Given the description of an element on the screen output the (x, y) to click on. 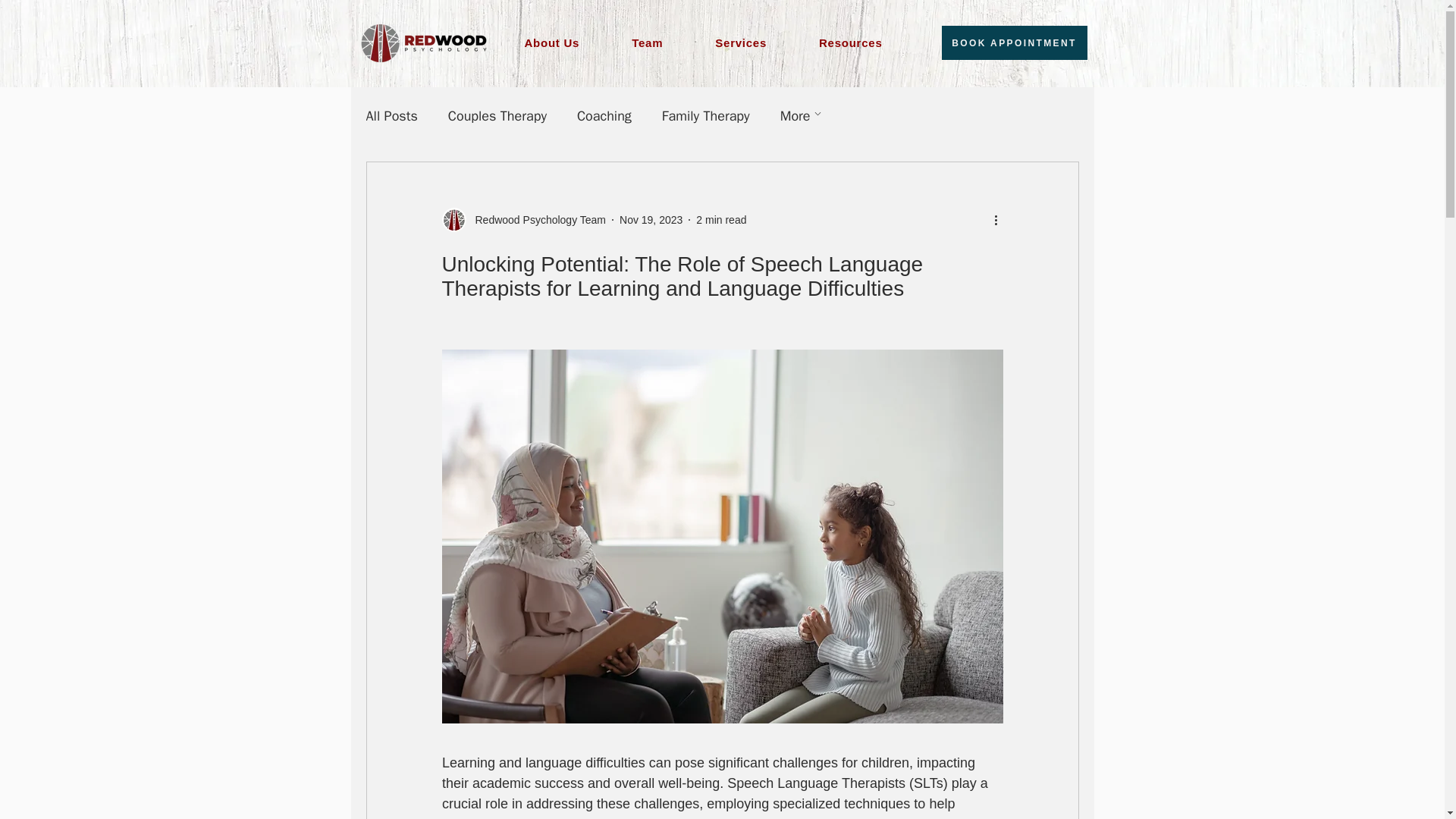
BOOK APPOINTMENT (718, 42)
Nov 19, 2023 (1014, 42)
Resources (651, 219)
Redwood Psychology Team (865, 42)
2 min read (535, 220)
